Given the description of an element on the screen output the (x, y) to click on. 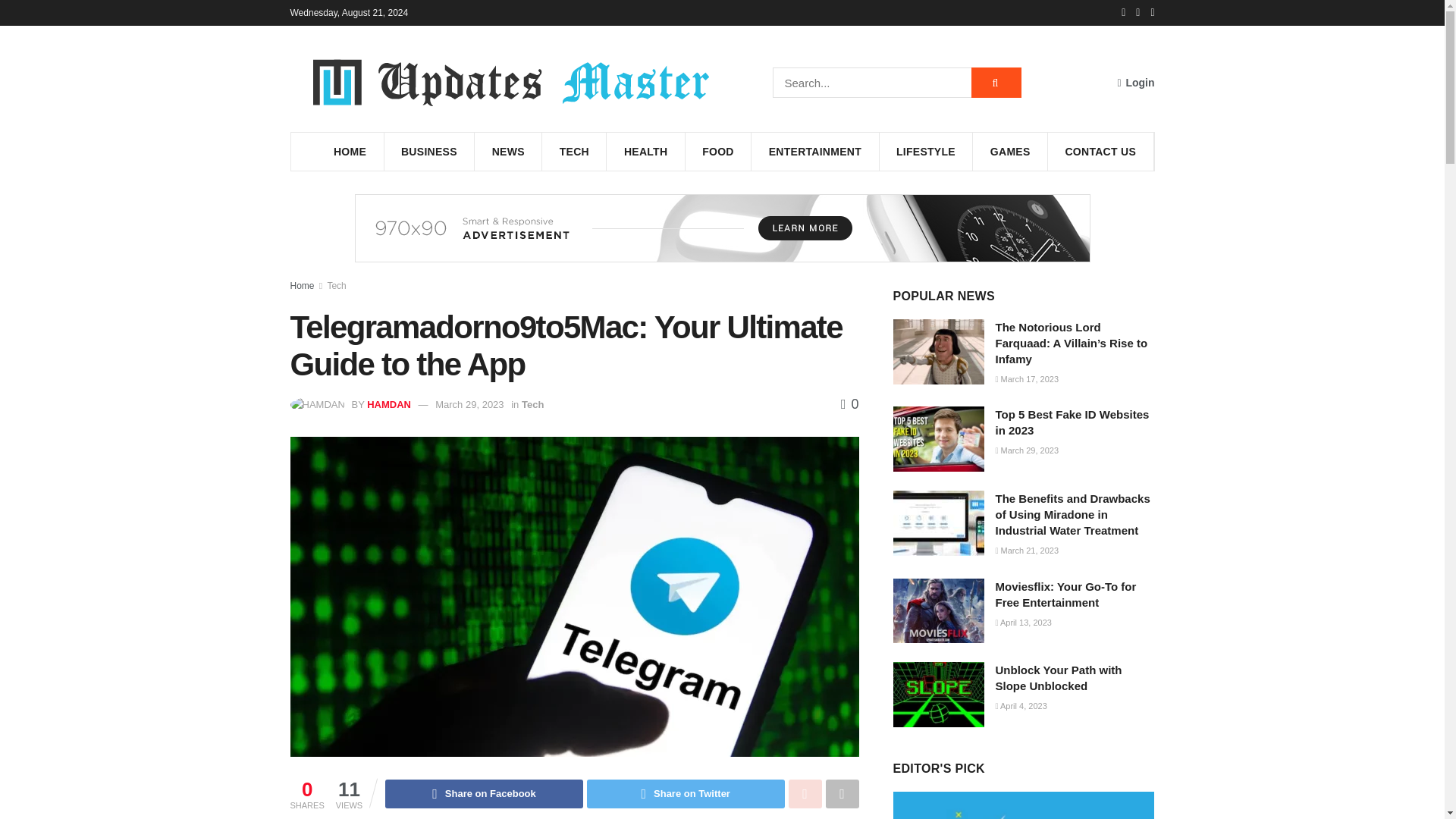
HOME (349, 151)
LIFESTYLE (925, 151)
Login (1135, 82)
Tech (532, 404)
HEALTH (645, 151)
ENTERTAINMENT (814, 151)
NEWS (508, 151)
TECH (574, 151)
BUSINESS (429, 151)
Home (301, 285)
